Given the description of an element on the screen output the (x, y) to click on. 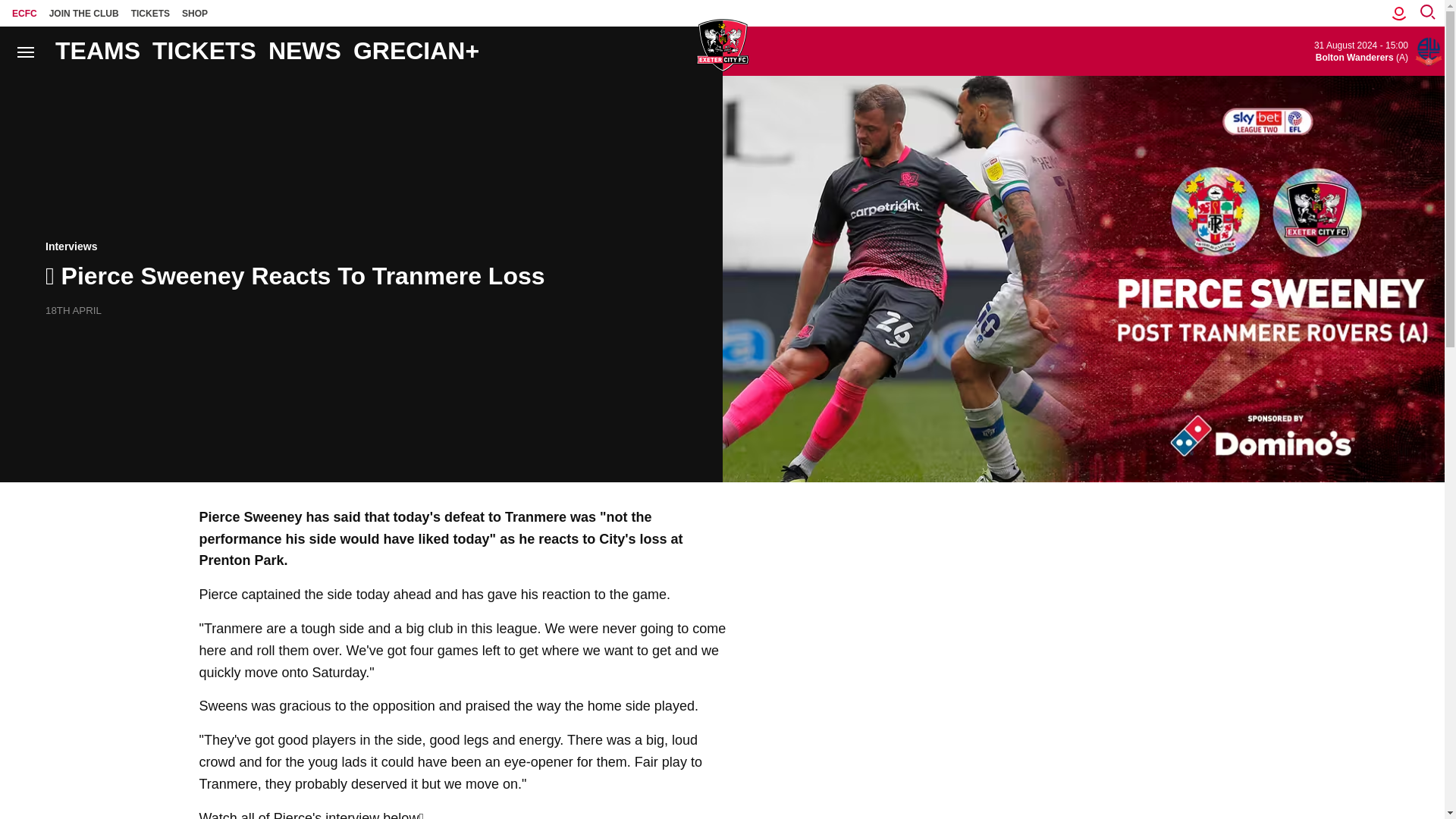
TICKETS (150, 13)
JOIN THE CLUB (84, 13)
ECFC (24, 13)
SHOP (195, 13)
